Given the description of an element on the screen output the (x, y) to click on. 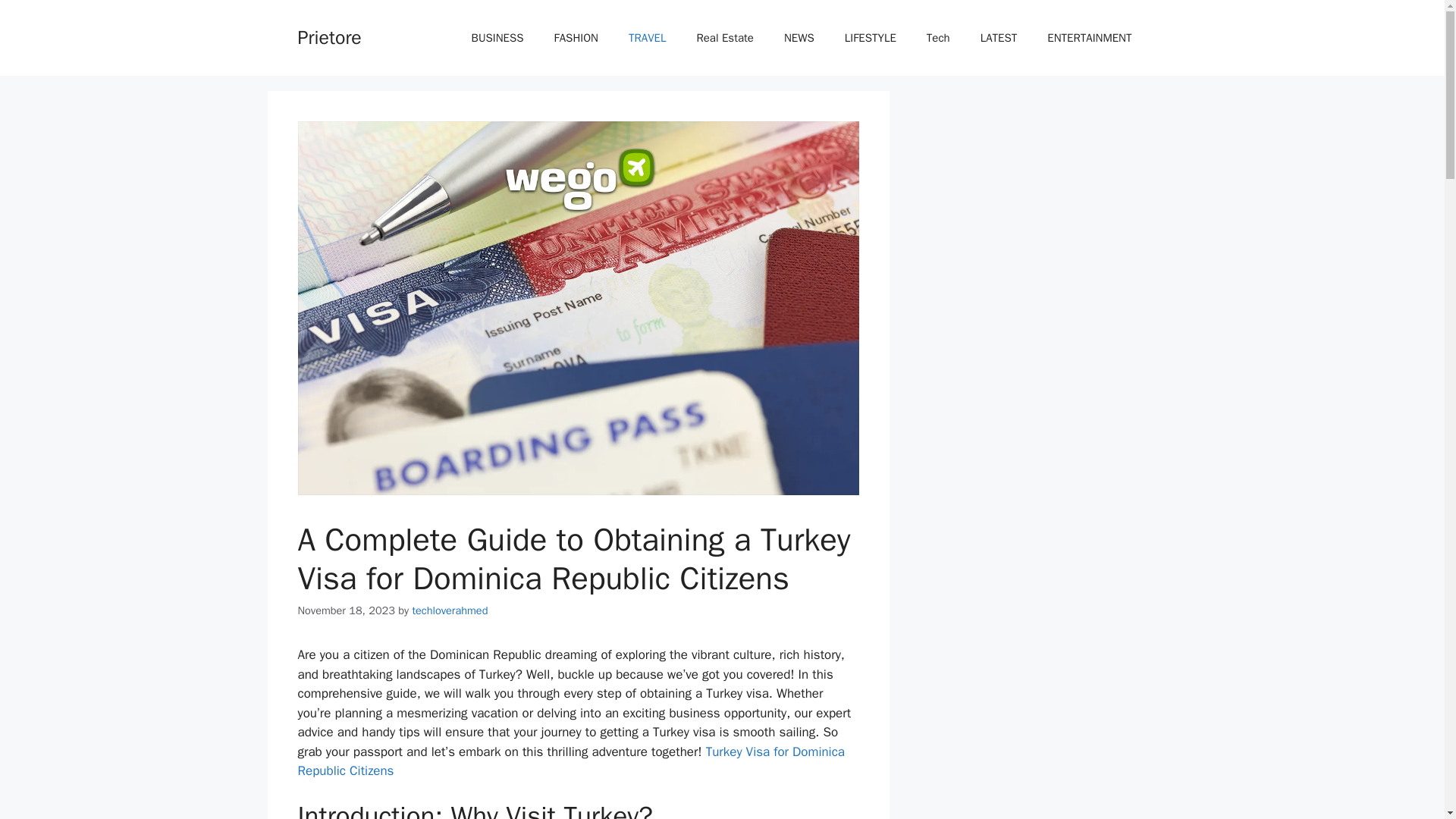
LIFESTYLE (870, 37)
NEWS (798, 37)
techloverahmed (449, 610)
TRAVEL (646, 37)
Turkey Visa for Dominica Republic Citizens (570, 760)
View all posts by techloverahmed (449, 610)
LATEST (998, 37)
Real Estate (724, 37)
BUSINESS (497, 37)
ENTERTAINMENT (1089, 37)
Tech (938, 37)
FASHION (575, 37)
Prietore (329, 37)
